Given the description of an element on the screen output the (x, y) to click on. 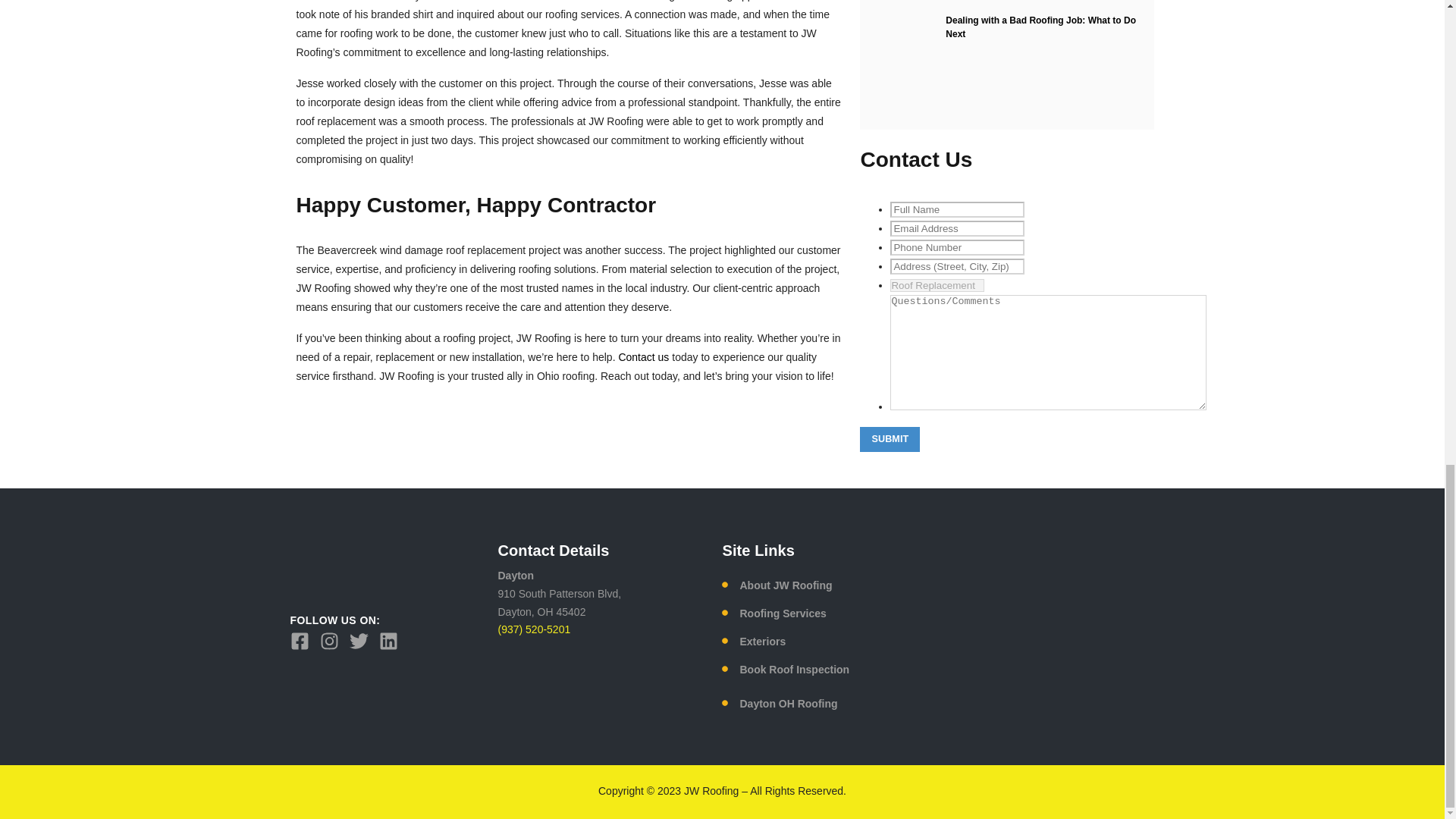
Submit (890, 439)
